Given the description of an element on the screen output the (x, y) to click on. 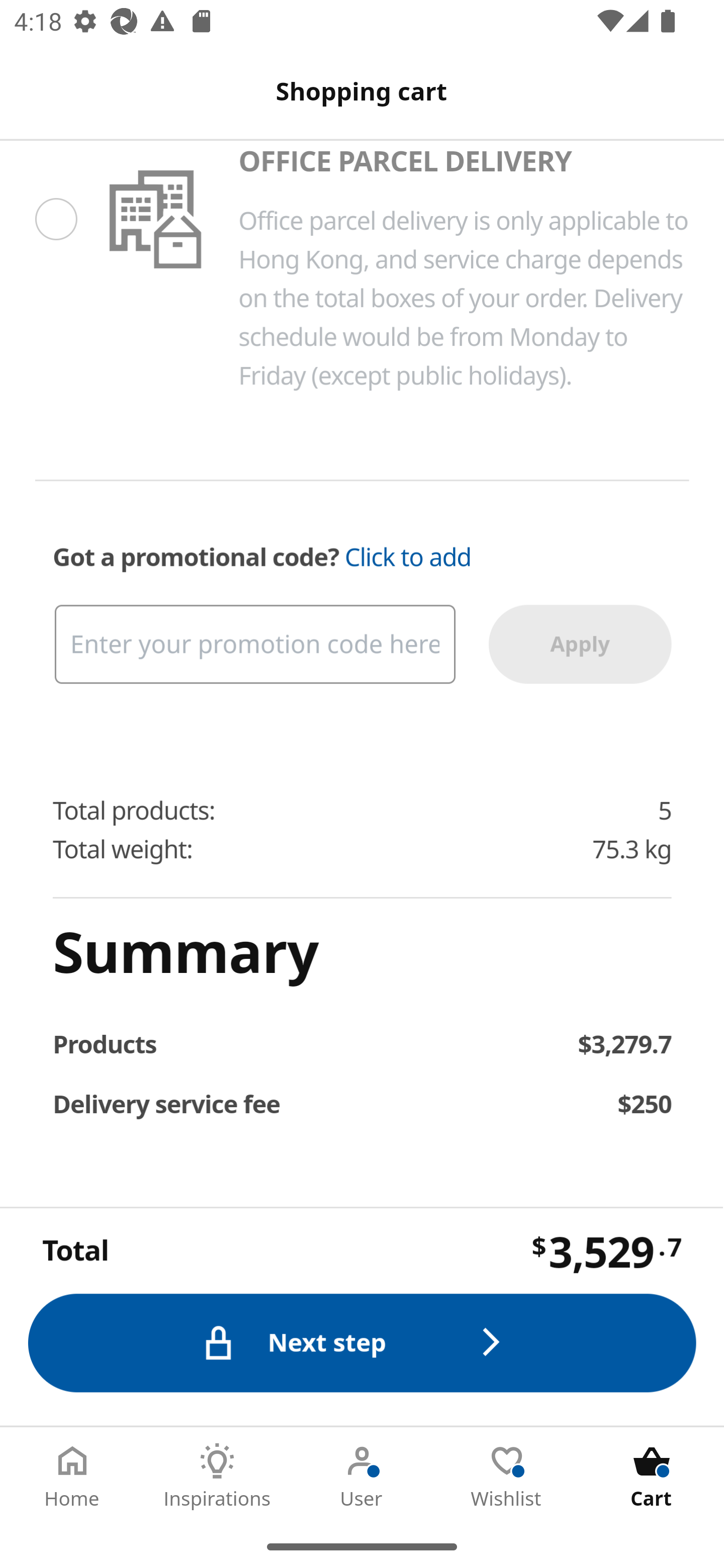
Click to add (408, 557)
 Next step  (363, 1342)
Home
Tab 1 of 5 (72, 1476)
Inspirations
Tab 2 of 5 (216, 1476)
User
Tab 3 of 5 (361, 1476)
Wishlist
Tab 4 of 5 (506, 1476)
Cart
Tab 5 of 5 (651, 1476)
